Given the description of an element on the screen output the (x, y) to click on. 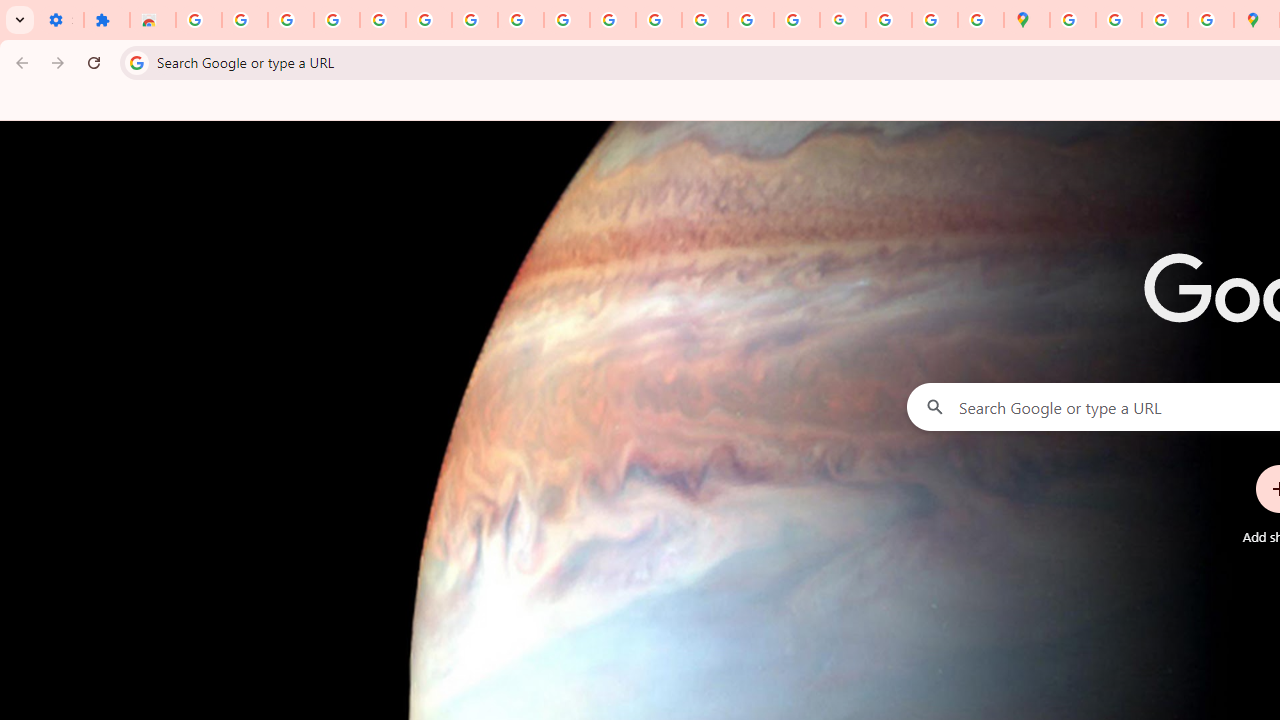
https://scholar.google.com/ (659, 20)
Google Maps (1026, 20)
Delete photos & videos - Computer - Google Photos Help (290, 20)
Sign in - Google Accounts (428, 20)
Learn how to find your photos - Google Photos Help (336, 20)
Sign in - Google Accounts (198, 20)
Google Account (520, 20)
